Given the description of an element on the screen output the (x, y) to click on. 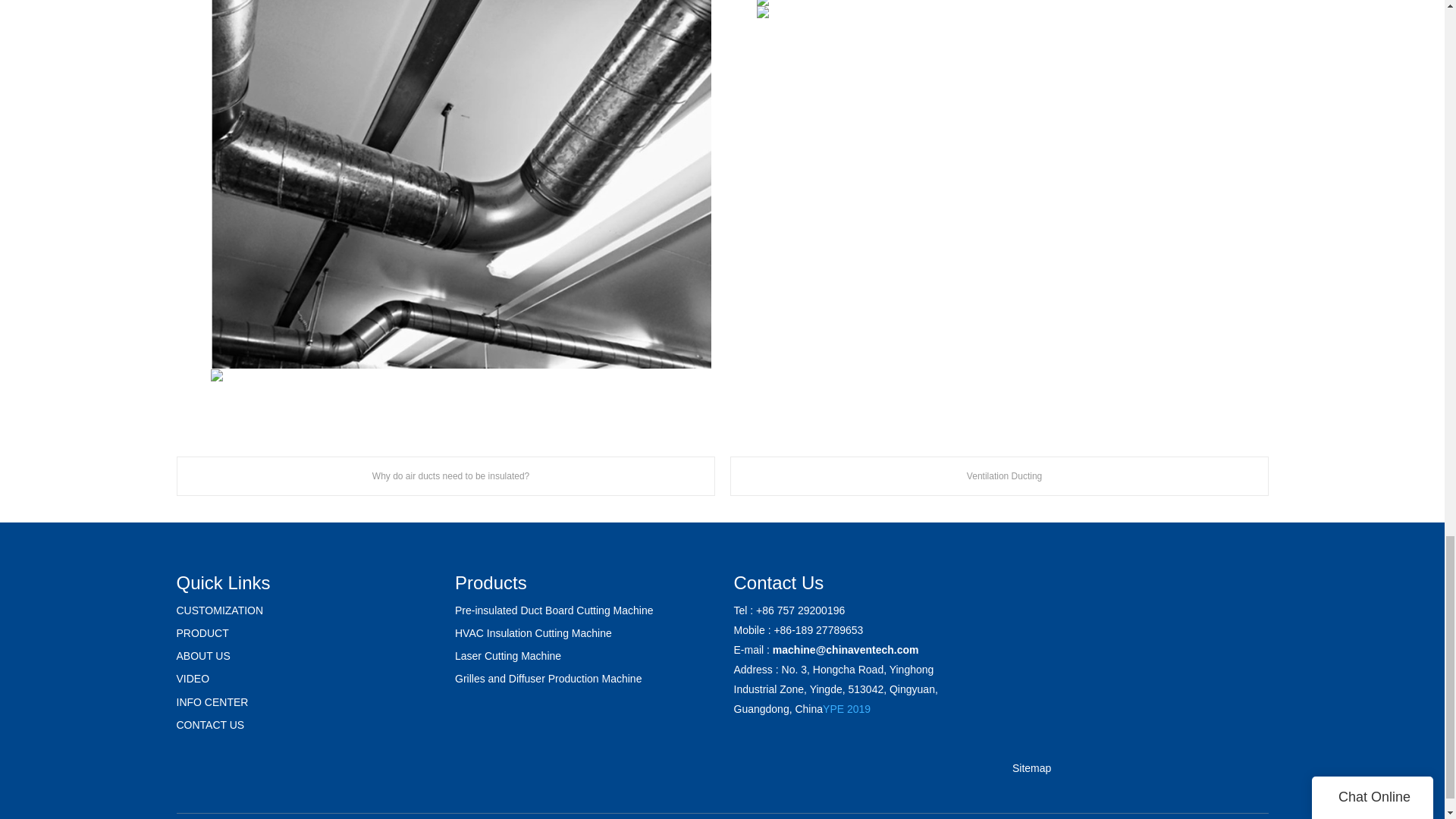
Ventilation Ducting (998, 476)
CUSTOMIZATION (219, 610)
PRODUCT (202, 633)
VIDEO (192, 678)
Why do air ducts need to be insulated? (445, 476)
HVAC Insulation Cutting Machine (532, 633)
Why do air ducts need to be insulated? (445, 476)
Ventilation Ducting (998, 476)
CONTACT US (210, 725)
Grilles and Diffuser Production Machine (548, 678)
Pre-insulated Duct Board Cutting Machine (553, 610)
Laser Cutting Machine (507, 655)
INFO CENTER (211, 702)
ABOUT US (203, 655)
